Given the description of an element on the screen output the (x, y) to click on. 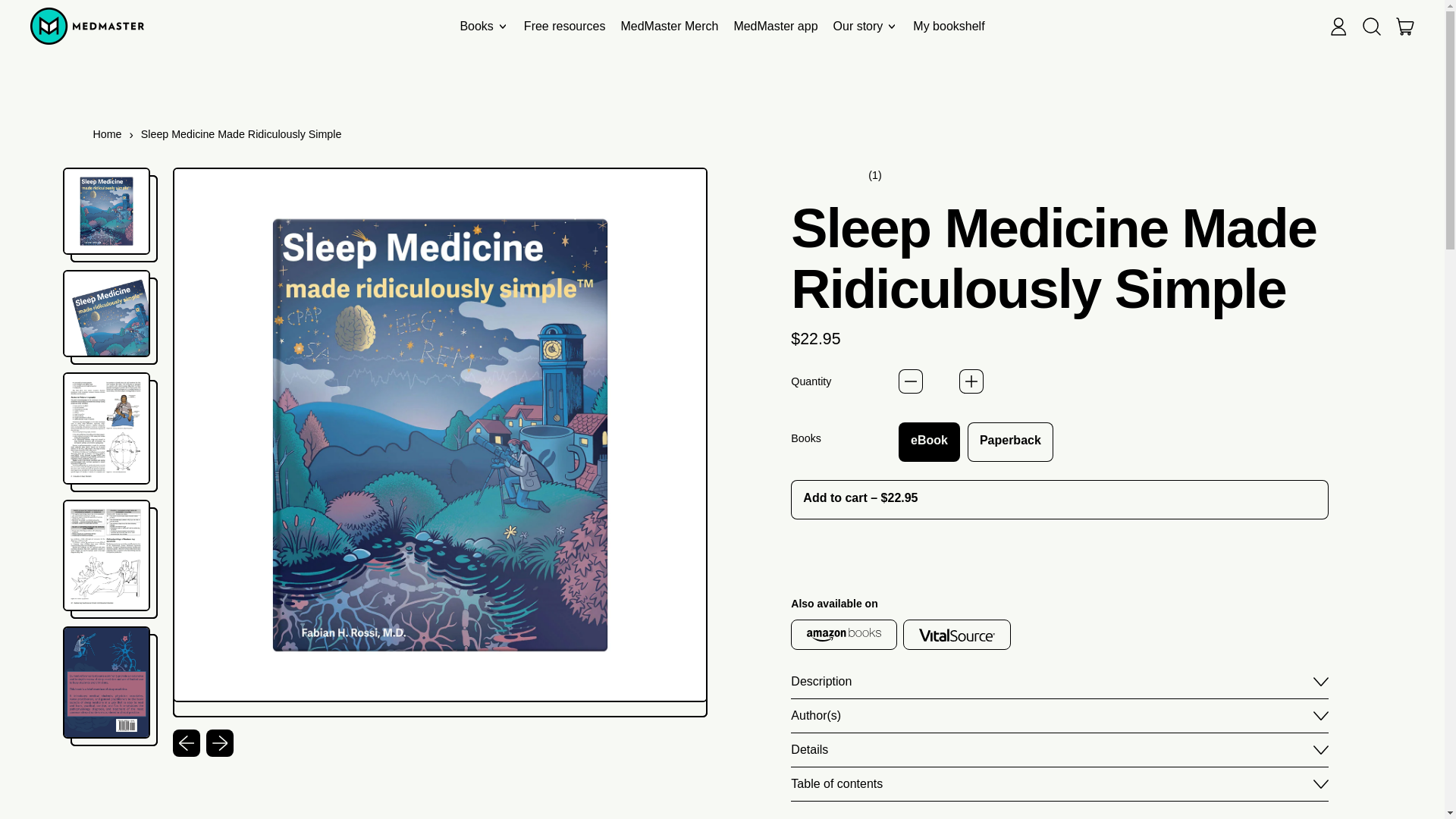
MedMaster Merch (668, 25)
Our story (865, 25)
MedMaster app (775, 25)
Search our site (1372, 25)
My bookshelf (948, 25)
Home (106, 134)
Sleep Medicine Made Ridiculously Simple (241, 134)
Books (1405, 25)
Log in (483, 25)
